Given the description of an element on the screen output the (x, y) to click on. 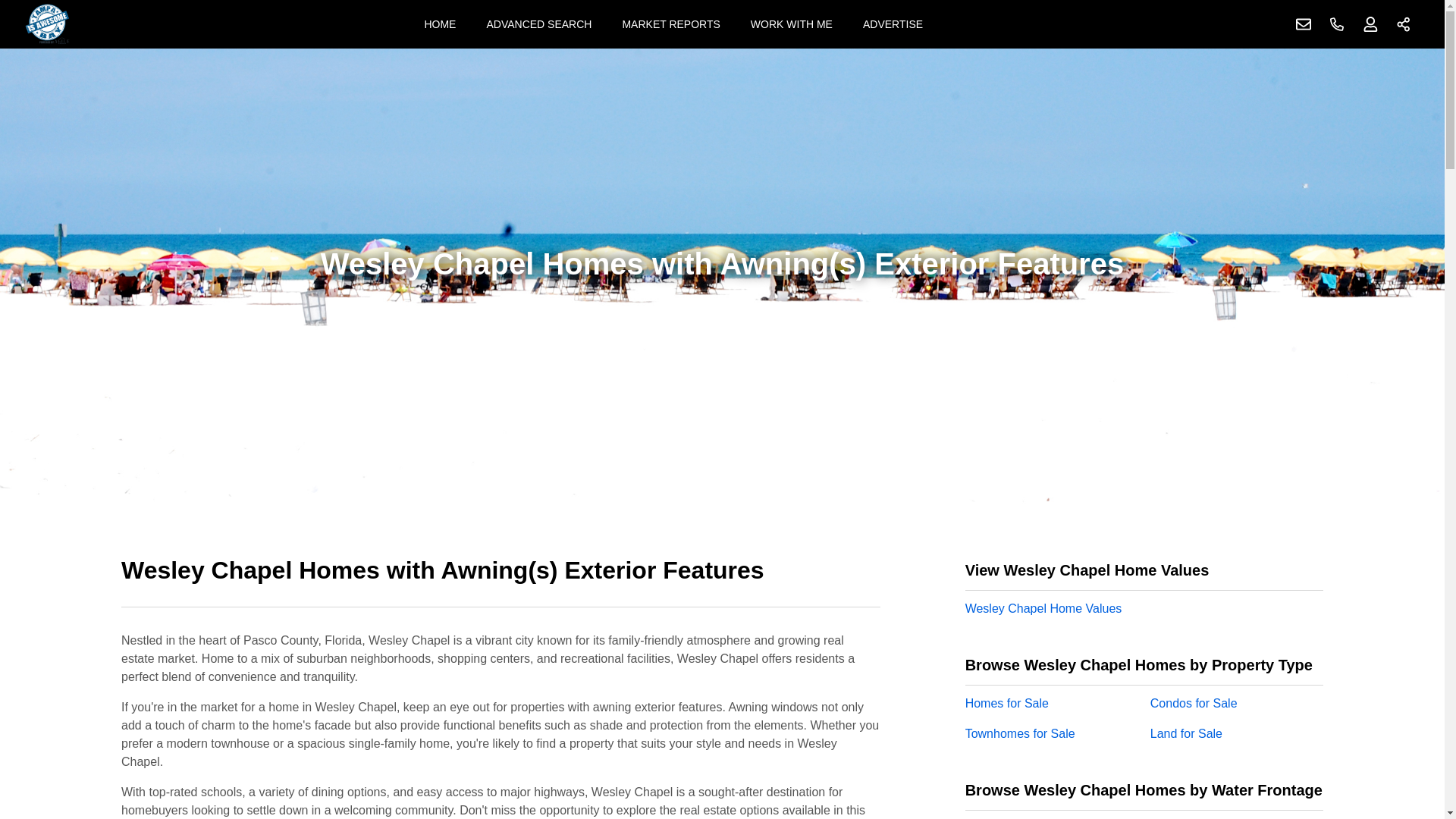
HOME (439, 24)
WORK WITH ME (791, 24)
ADVERTISE (892, 24)
Phone number (1337, 23)
Tampabayisawesome.com (46, 24)
Share (1404, 23)
ADVANCED SEARCH (538, 24)
Sign up or Sign in (1370, 23)
MARKET REPORTS (670, 24)
Contact us (1303, 23)
